Given the description of an element on the screen output the (x, y) to click on. 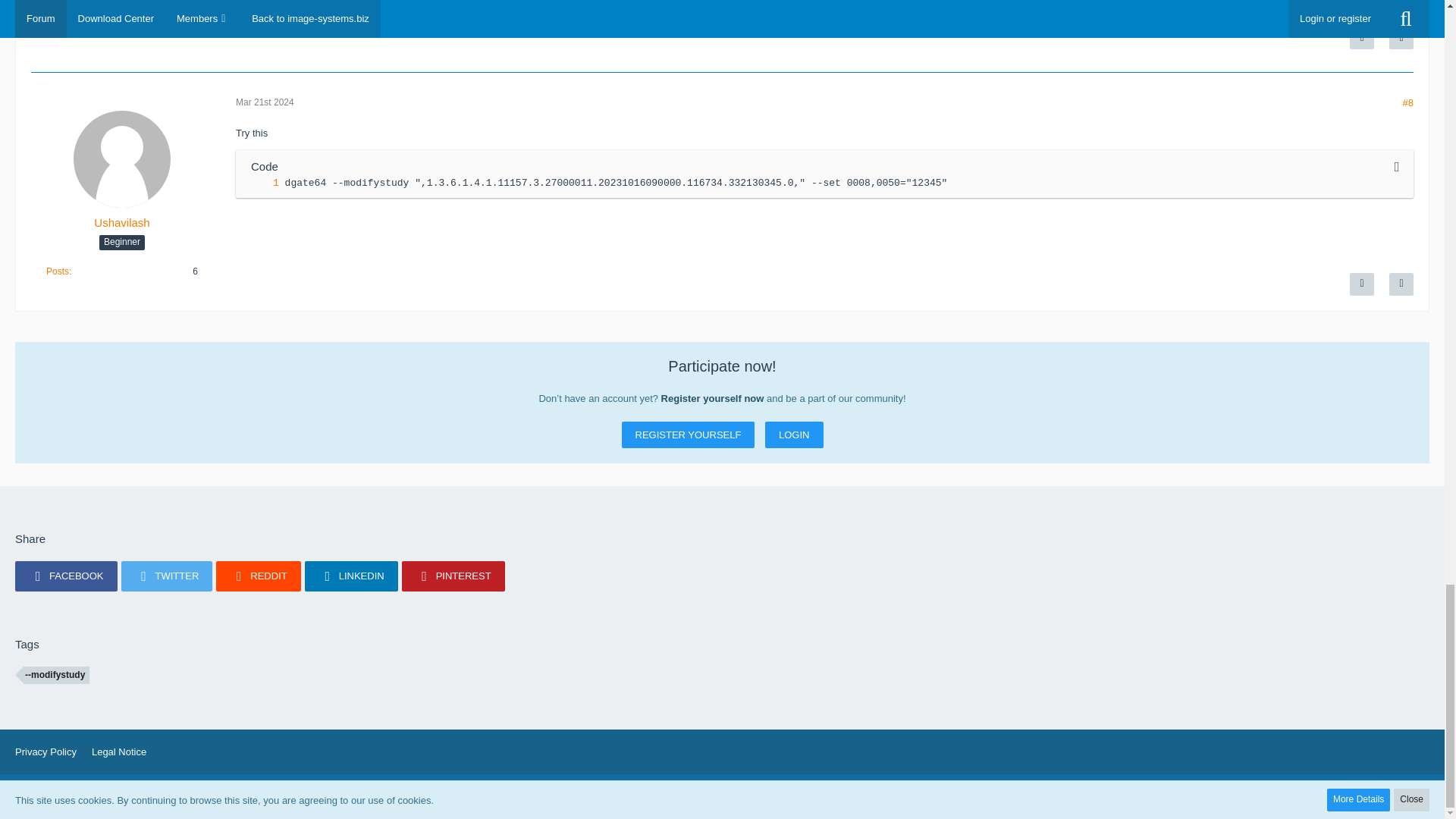
1 (261, 183)
Facebook (65, 576)
Twitter (166, 576)
Pinterest (453, 576)
Reddit (257, 576)
LinkedIn (350, 576)
